Given the description of an element on the screen output the (x, y) to click on. 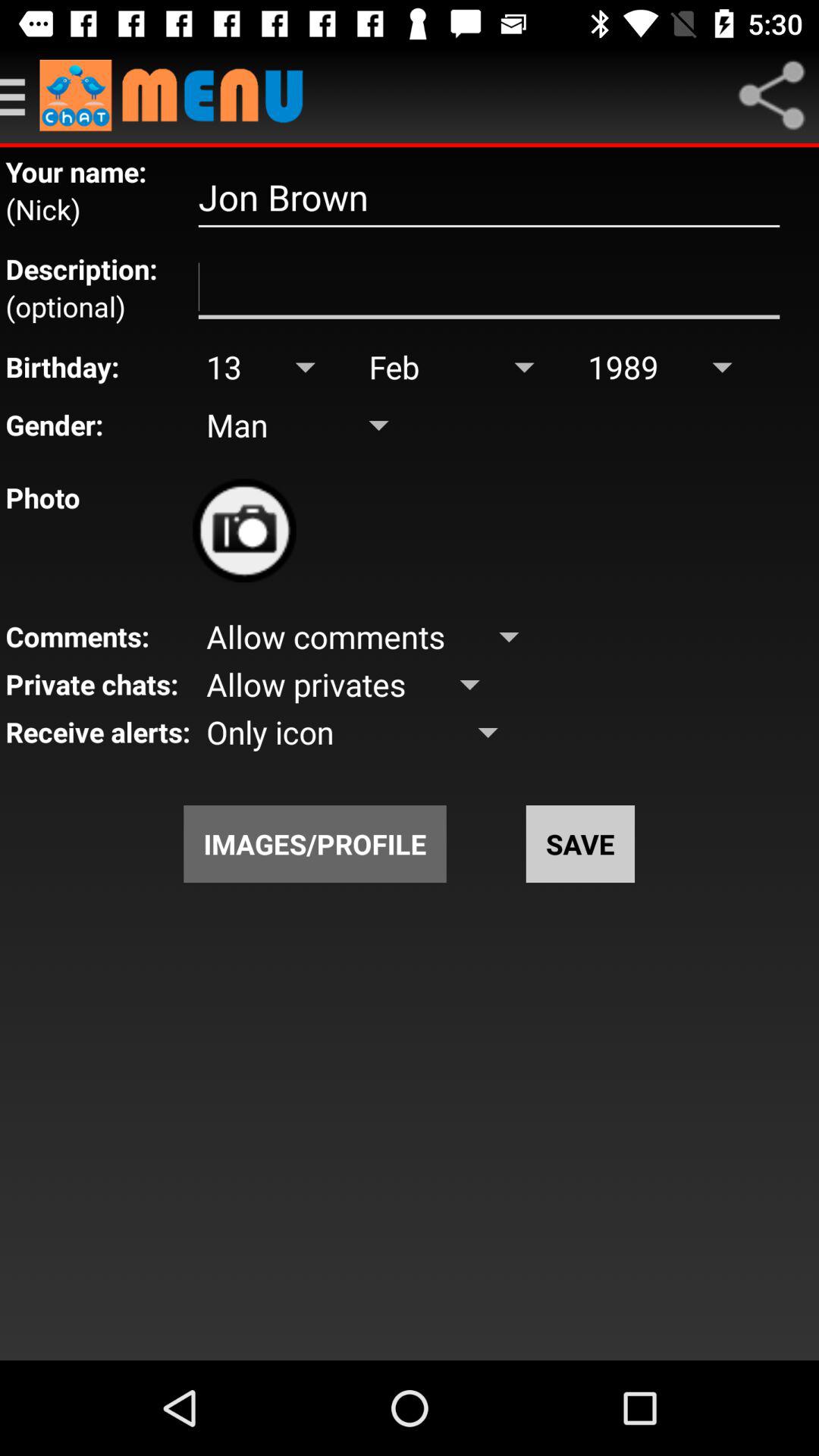
menu (19, 95)
